Given the description of an element on the screen output the (x, y) to click on. 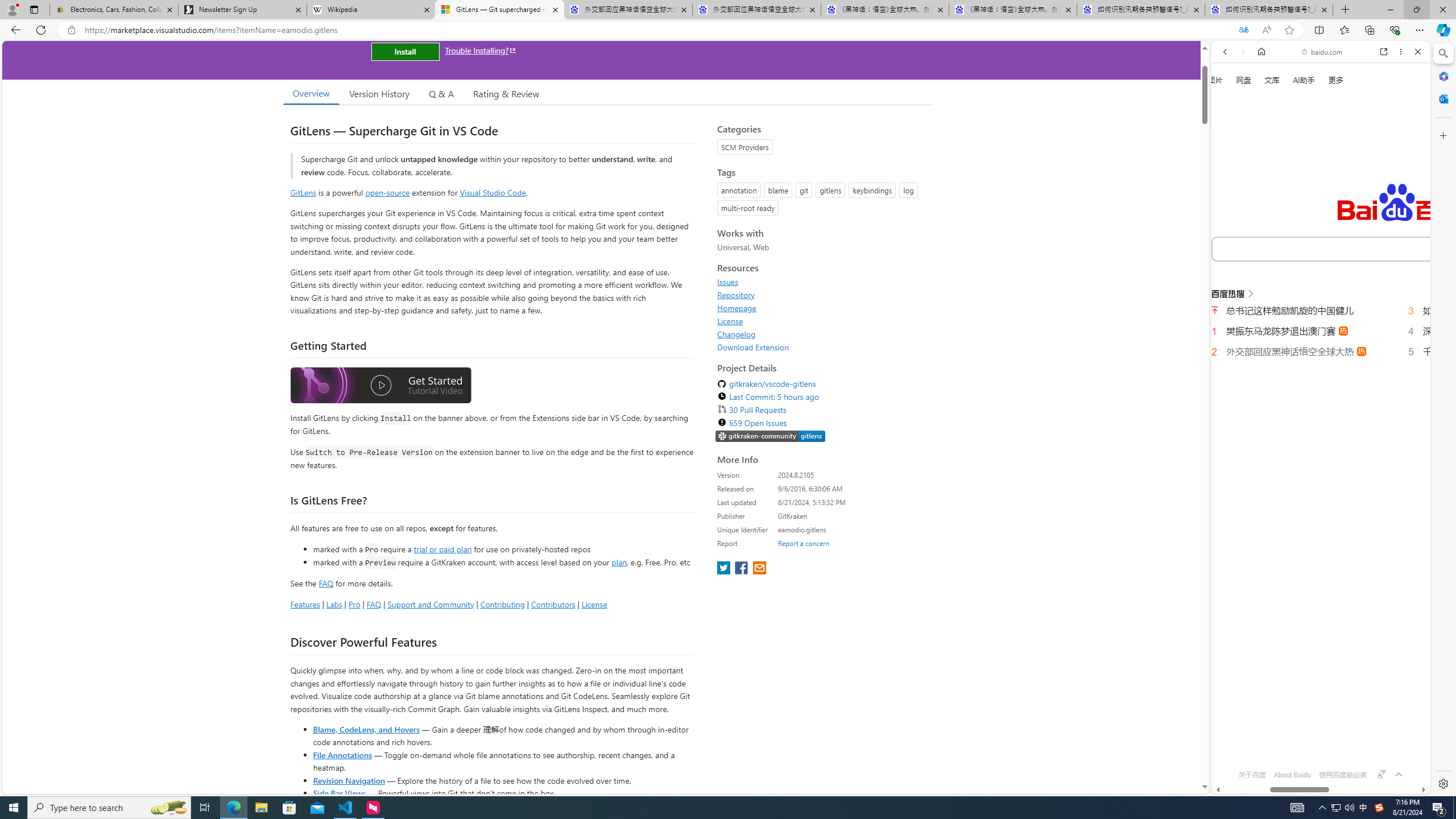
Changelog (736, 333)
IMAGES (1262, 192)
To get missing image descriptions, open the context menu. (1229, 130)
English (Uk) (1320, 357)
Translated (1243, 29)
Report a concern (803, 542)
